Given the description of an element on the screen output the (x, y) to click on. 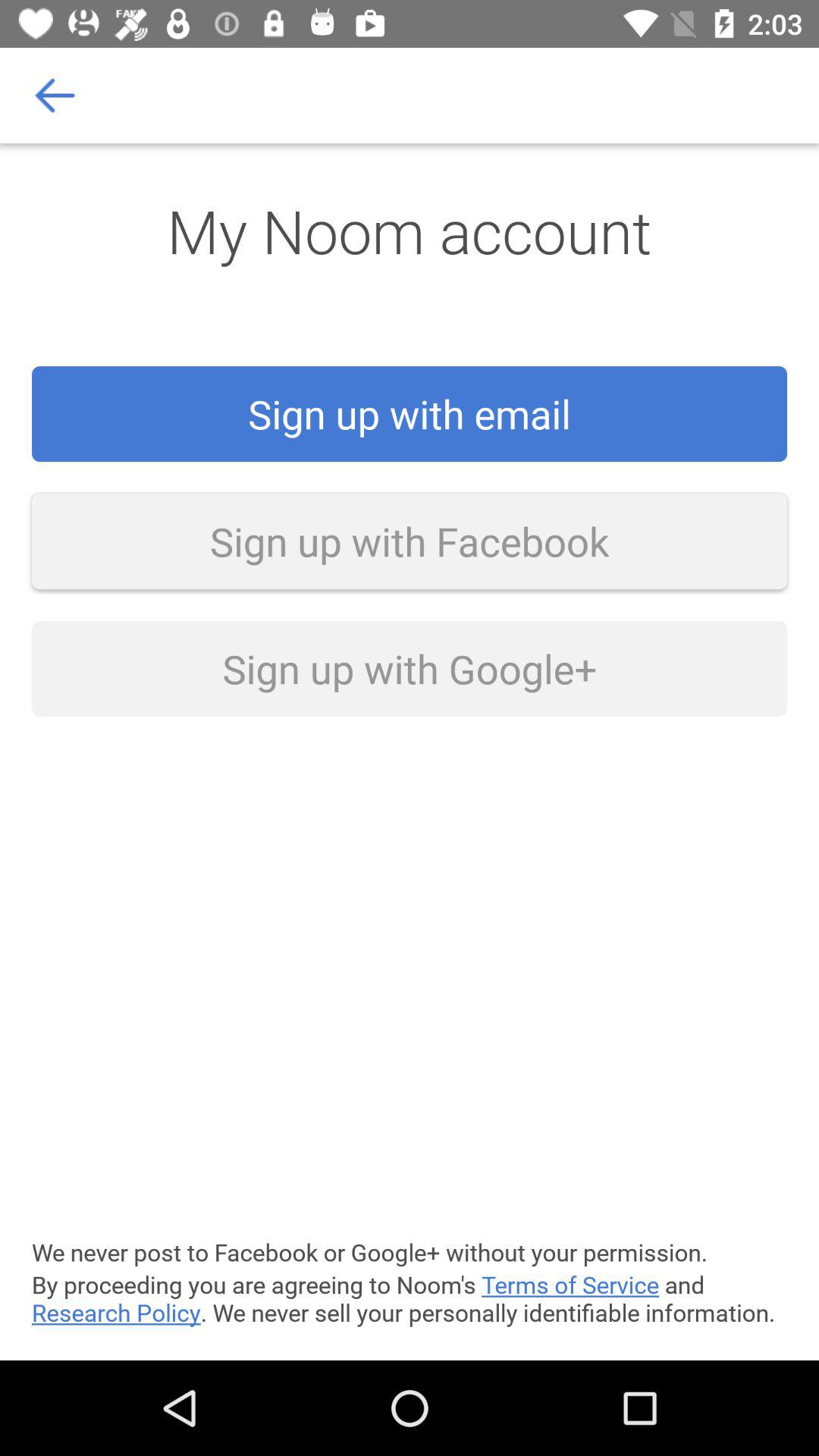
turn on item below the we never post icon (409, 1298)
